Given the description of an element on the screen output the (x, y) to click on. 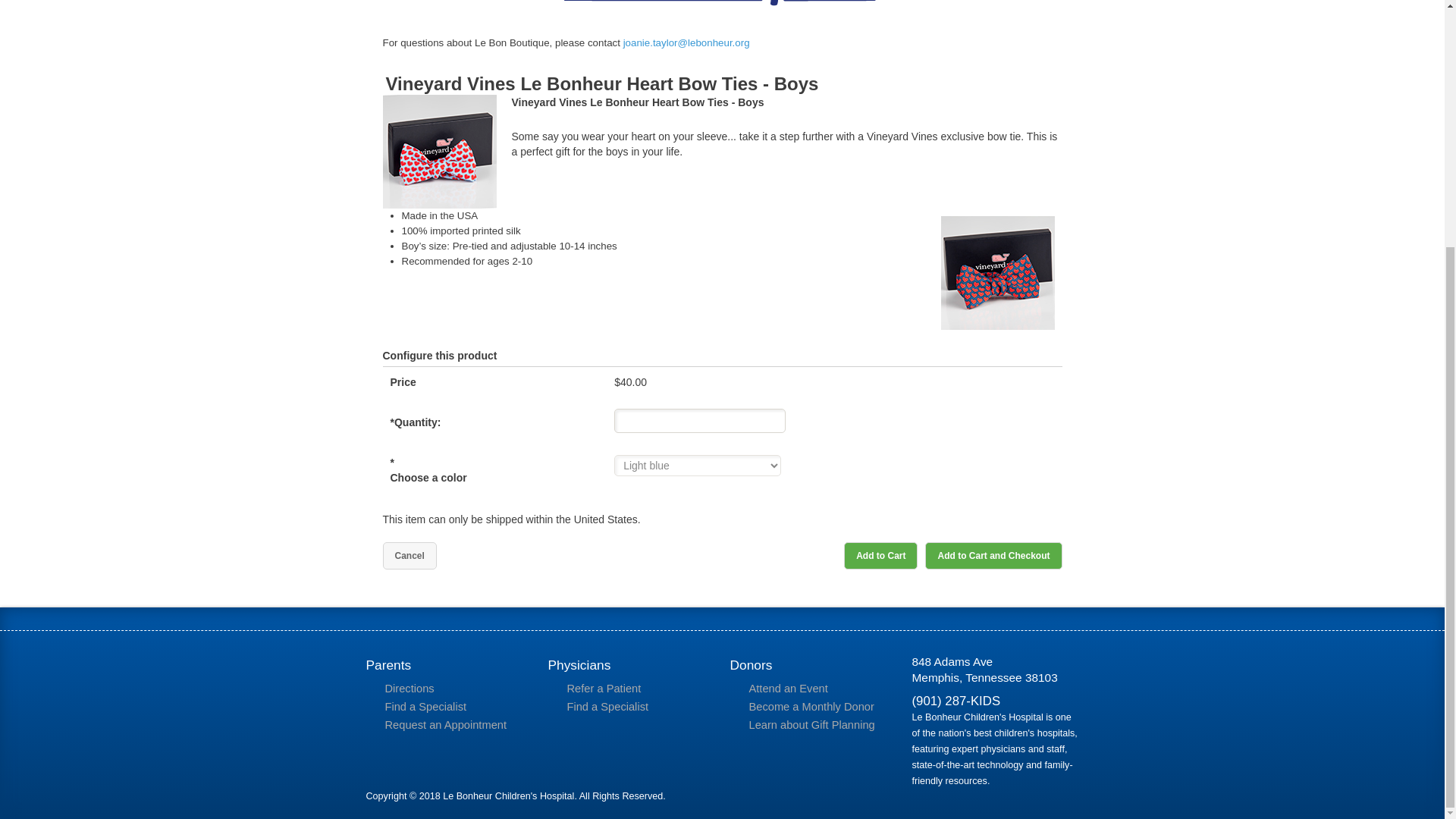
Become a Monthly Donor (817, 706)
Attend an Event (817, 688)
Physicians (630, 665)
Donors (812, 665)
Learn about Gift Planning (817, 724)
Cancel (408, 555)
Add to Cart (880, 555)
Find a Specialist (453, 706)
Add to Cart (880, 555)
Add to Cart and Checkout (992, 555)
Request an Appointment (453, 724)
Cancel (408, 555)
Add to Cart and Checkout (992, 555)
Refer a Patient (635, 688)
Directions (453, 688)
